Given the description of an element on the screen output the (x, y) to click on. 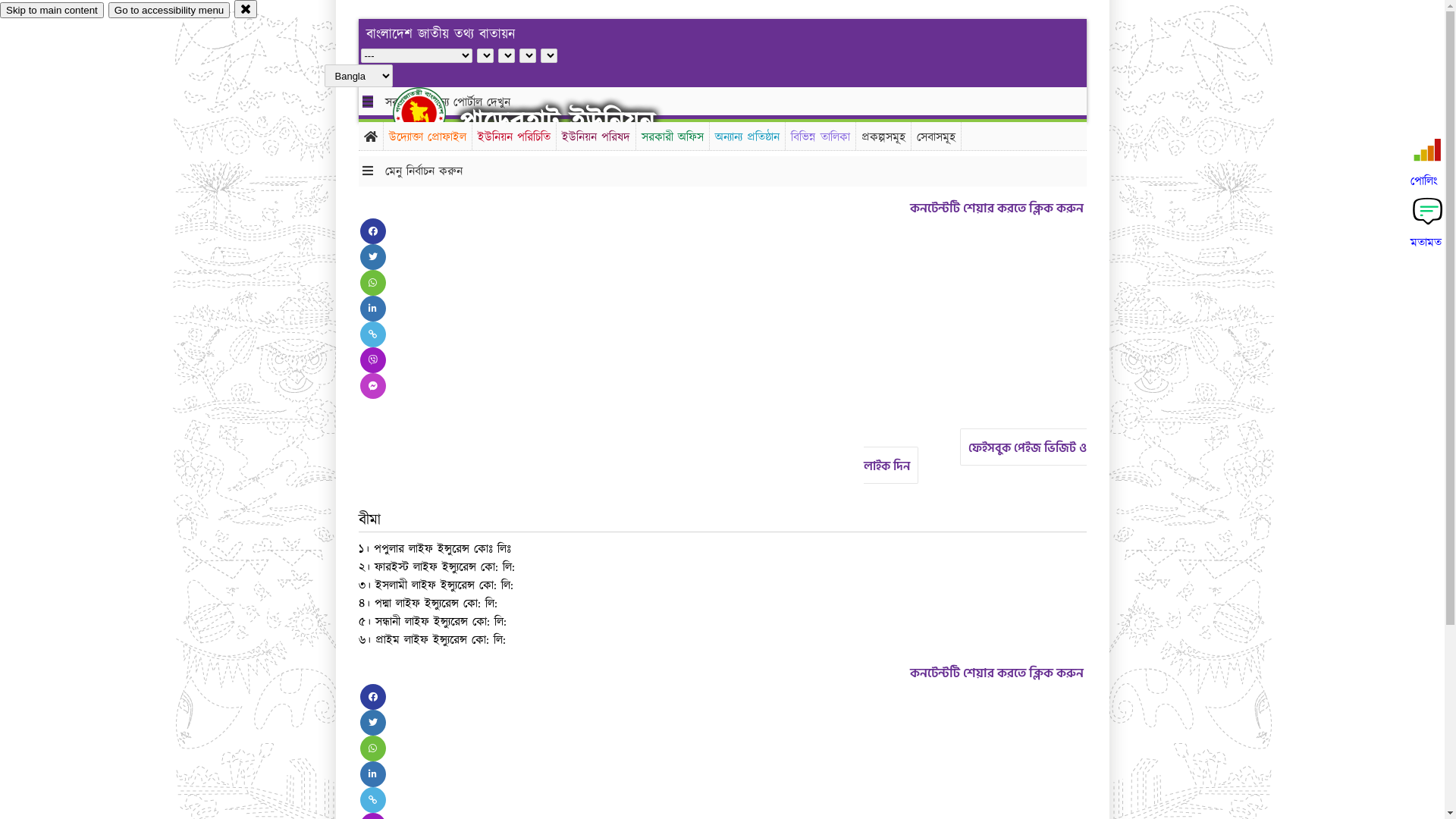
Go to accessibility menu Element type: text (168, 10)

                
             Element type: hover (431, 112)
close Element type: hover (245, 9)
Skip to main content Element type: text (51, 10)
